Given the description of an element on the screen output the (x, y) to click on. 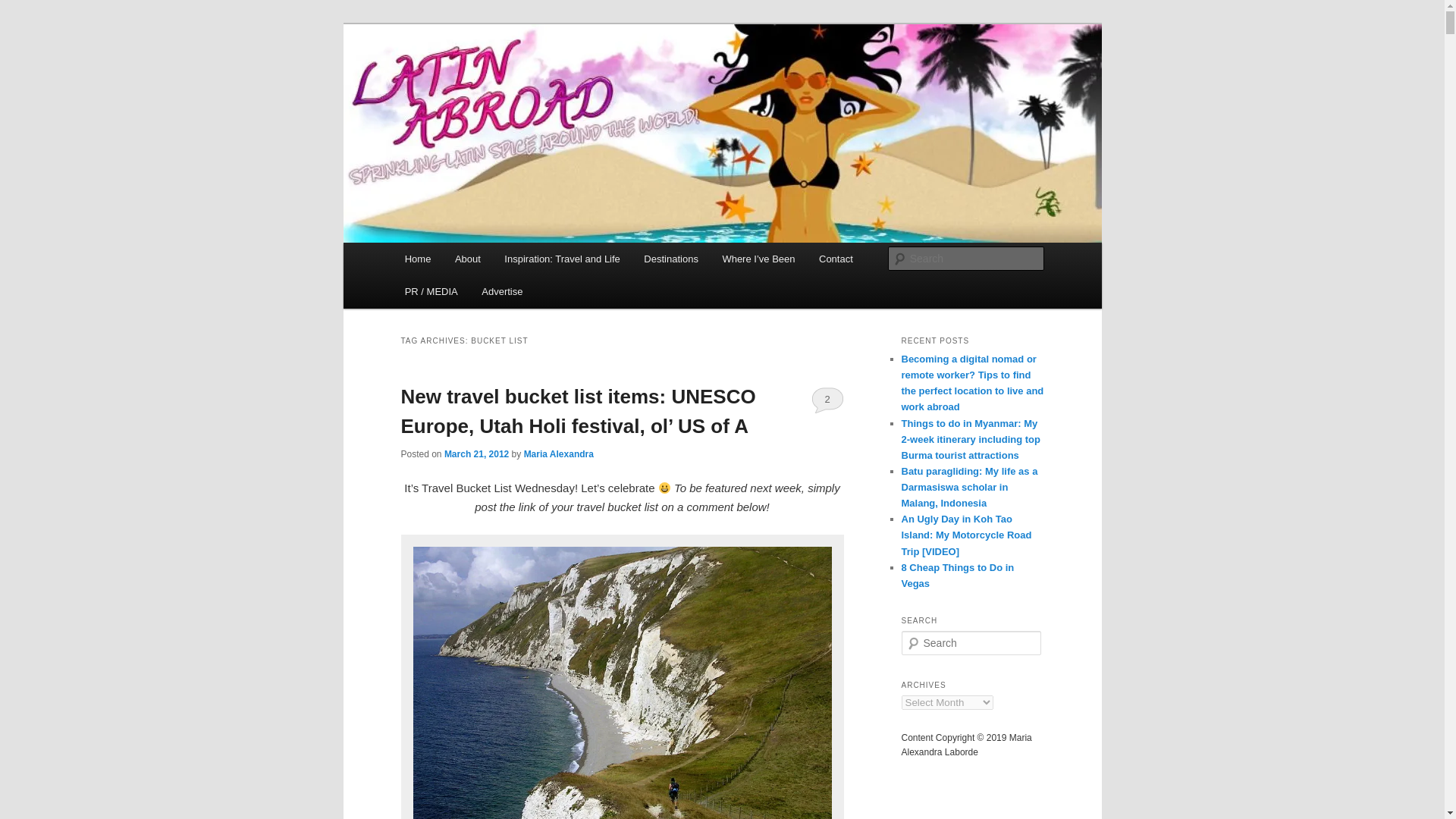
Destinations (670, 258)
Home (417, 258)
Search (24, 8)
About (467, 258)
View all posts by Maria Alexandra (559, 453)
Inspiration: Travel and Life (562, 258)
travel bucket list - Dorset Coast, England, UK (622, 680)
12:00 AM (476, 453)
LatinAbroad (467, 78)
